Given the description of an element on the screen output the (x, y) to click on. 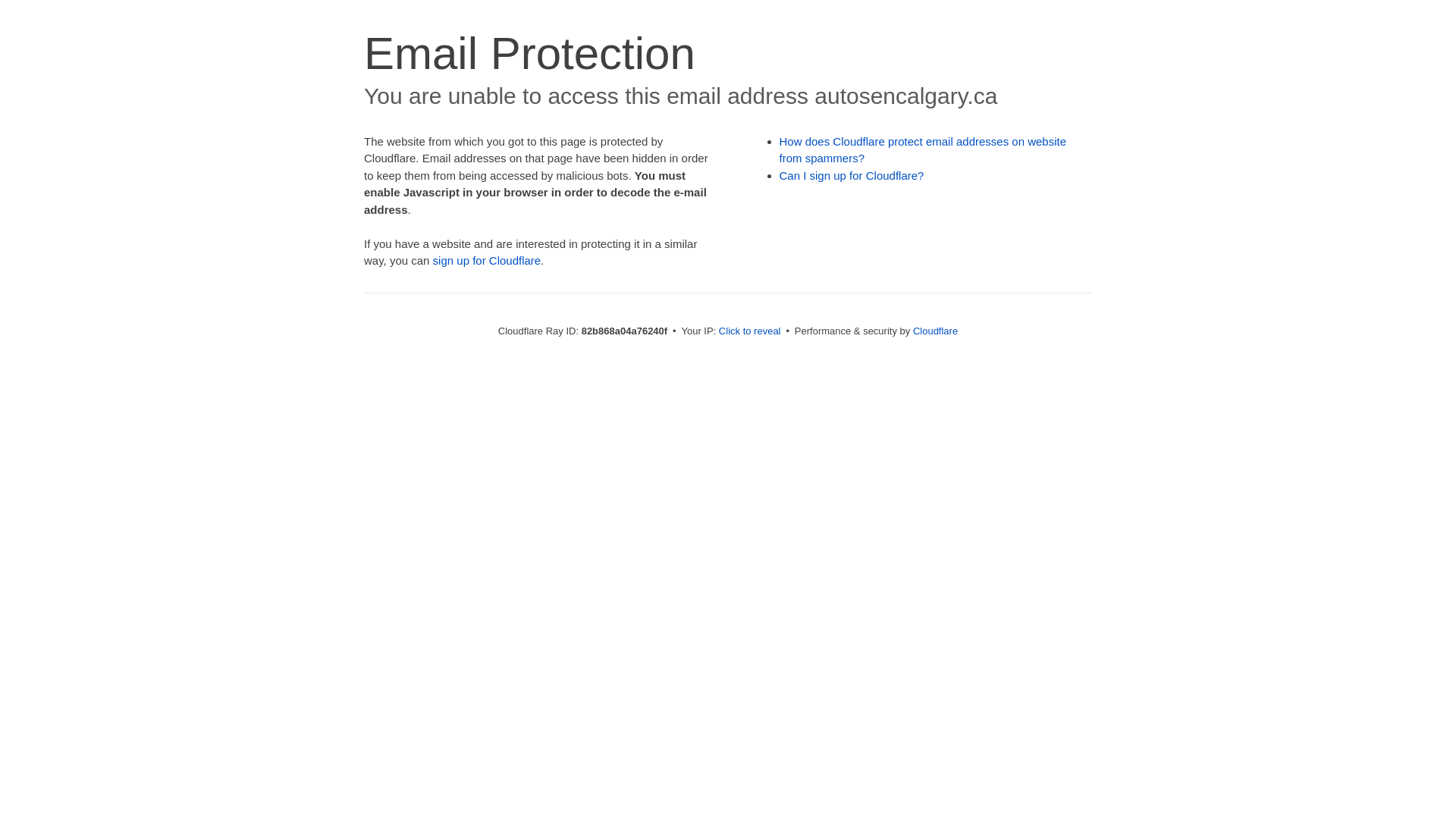
Can I sign up for Cloudflare? Element type: text (851, 175)
sign up for Cloudflare Element type: text (487, 260)
Click to reveal Element type: text (749, 330)
Cloudflare Element type: text (935, 330)
